Given the description of an element on the screen output the (x, y) to click on. 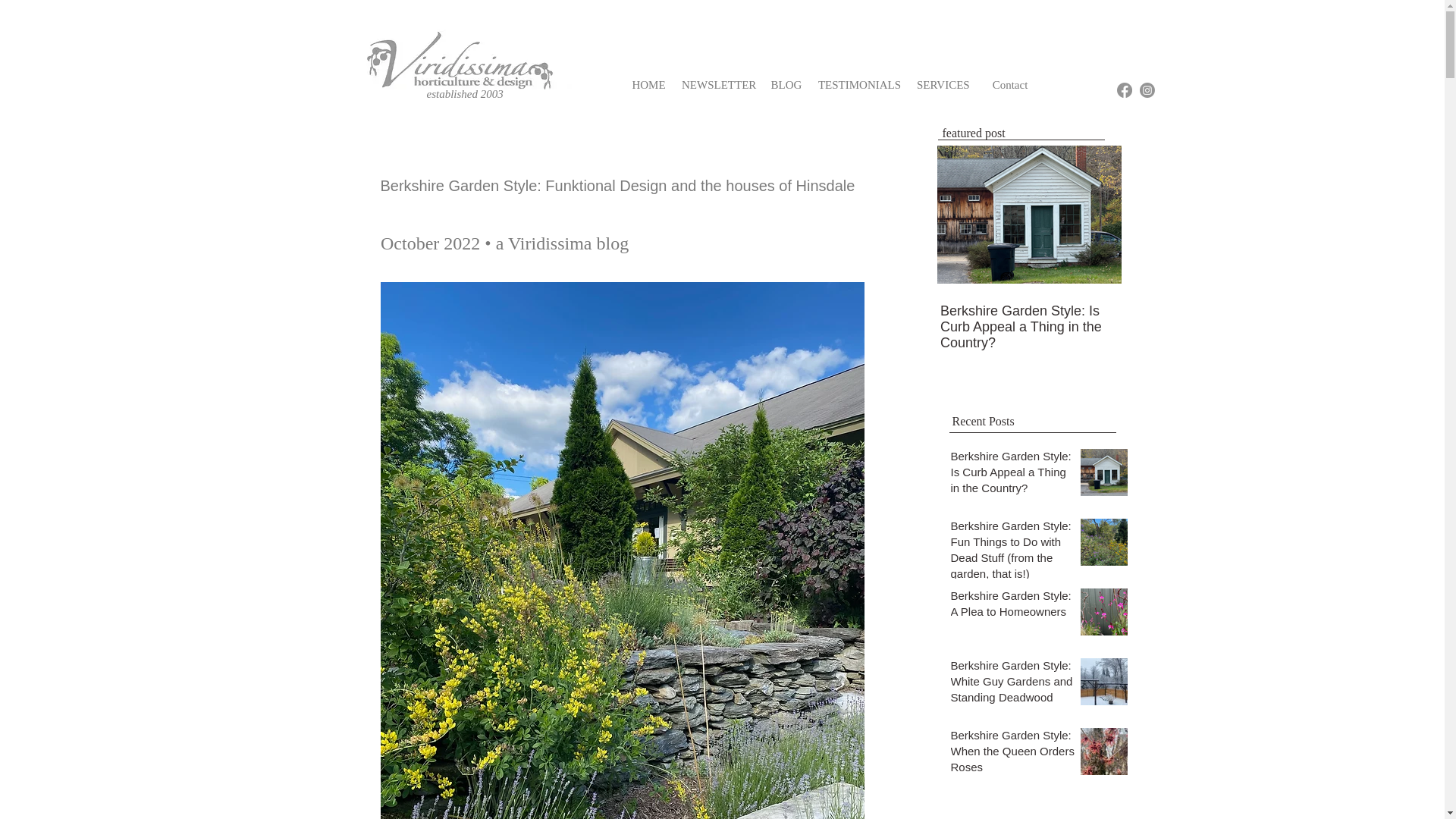
HOME (648, 84)
Berkshire Garden Style: A Plea to Homeowners (1013, 606)
TESTIMONIALS (858, 84)
NEWSLETTER (718, 84)
BLOG (785, 84)
Berkshire Garden Style: When the Queen Orders Roses (1013, 754)
Contact (1009, 84)
SERVICES (941, 84)
